Given the description of an element on the screen output the (x, y) to click on. 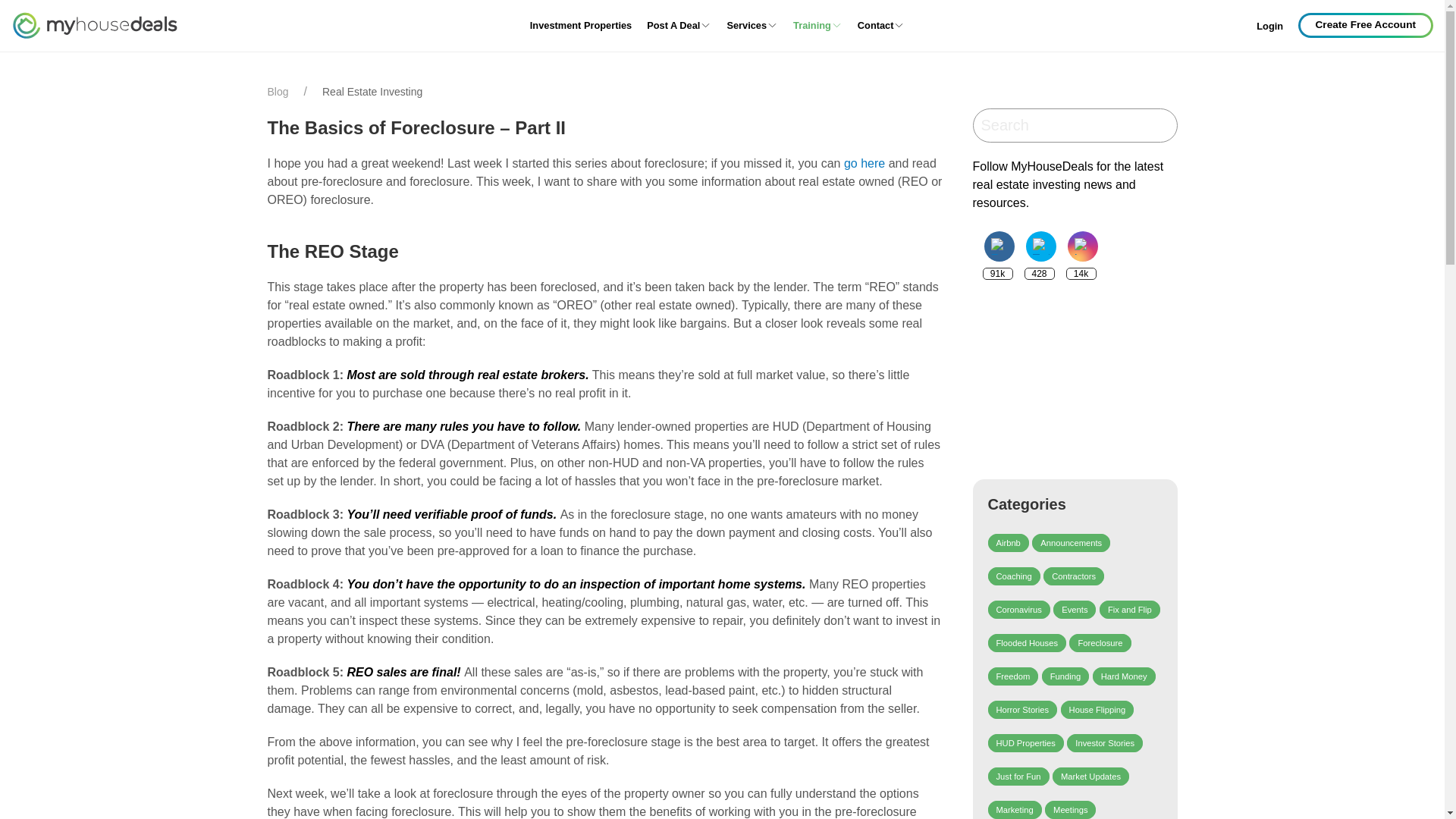
go here (864, 163)
Contact (881, 25)
Blog (277, 91)
Twitter (1040, 246)
Search for: (1053, 125)
Services (752, 25)
Post A Deal (679, 25)
Blog (277, 91)
Real Estate Investing (371, 91)
Instagram (1082, 246)
